Given the description of an element on the screen output the (x, y) to click on. 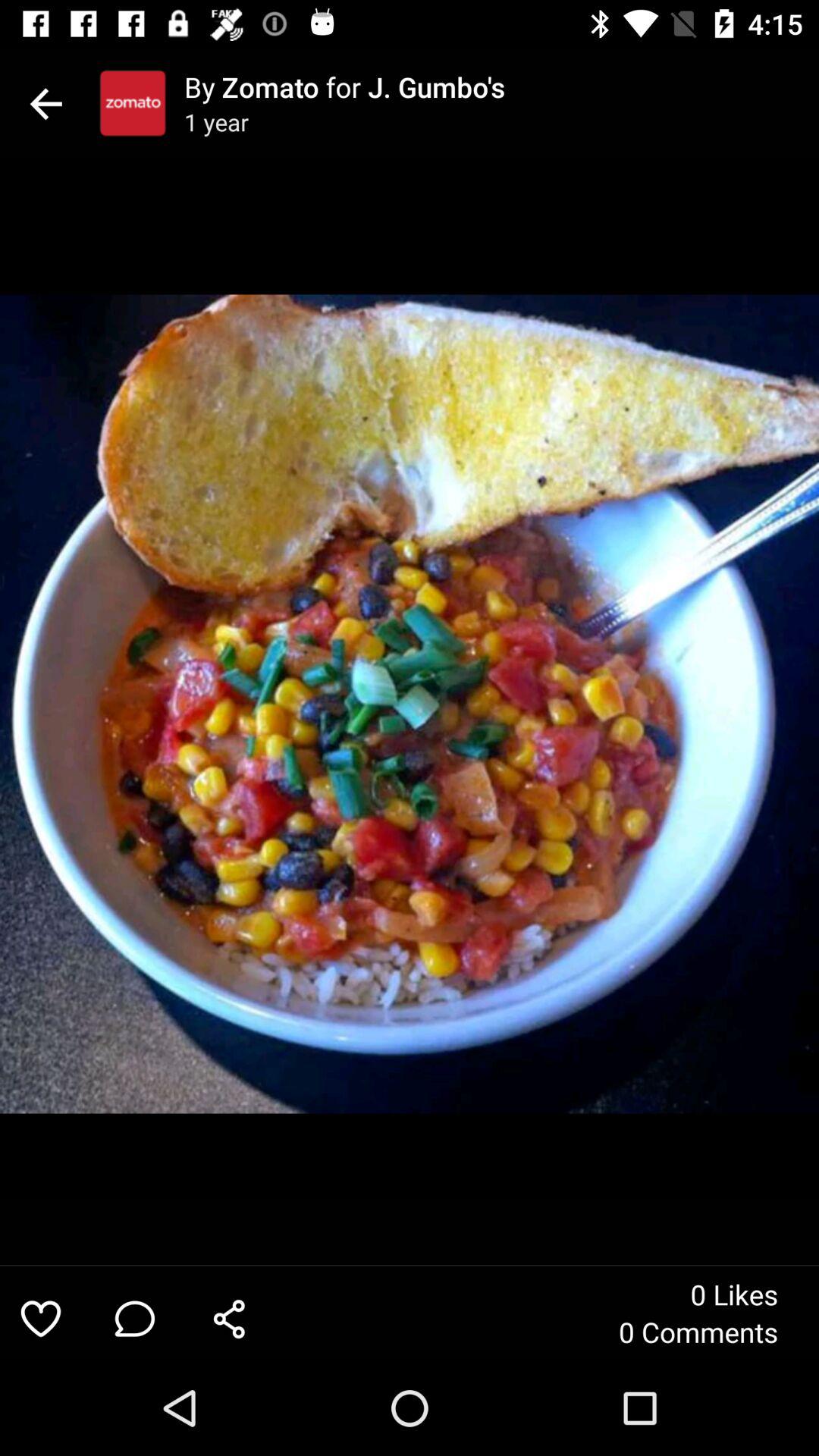
turn on the icon to the left of the by zomato for item (133, 103)
